Given the description of an element on the screen output the (x, y) to click on. 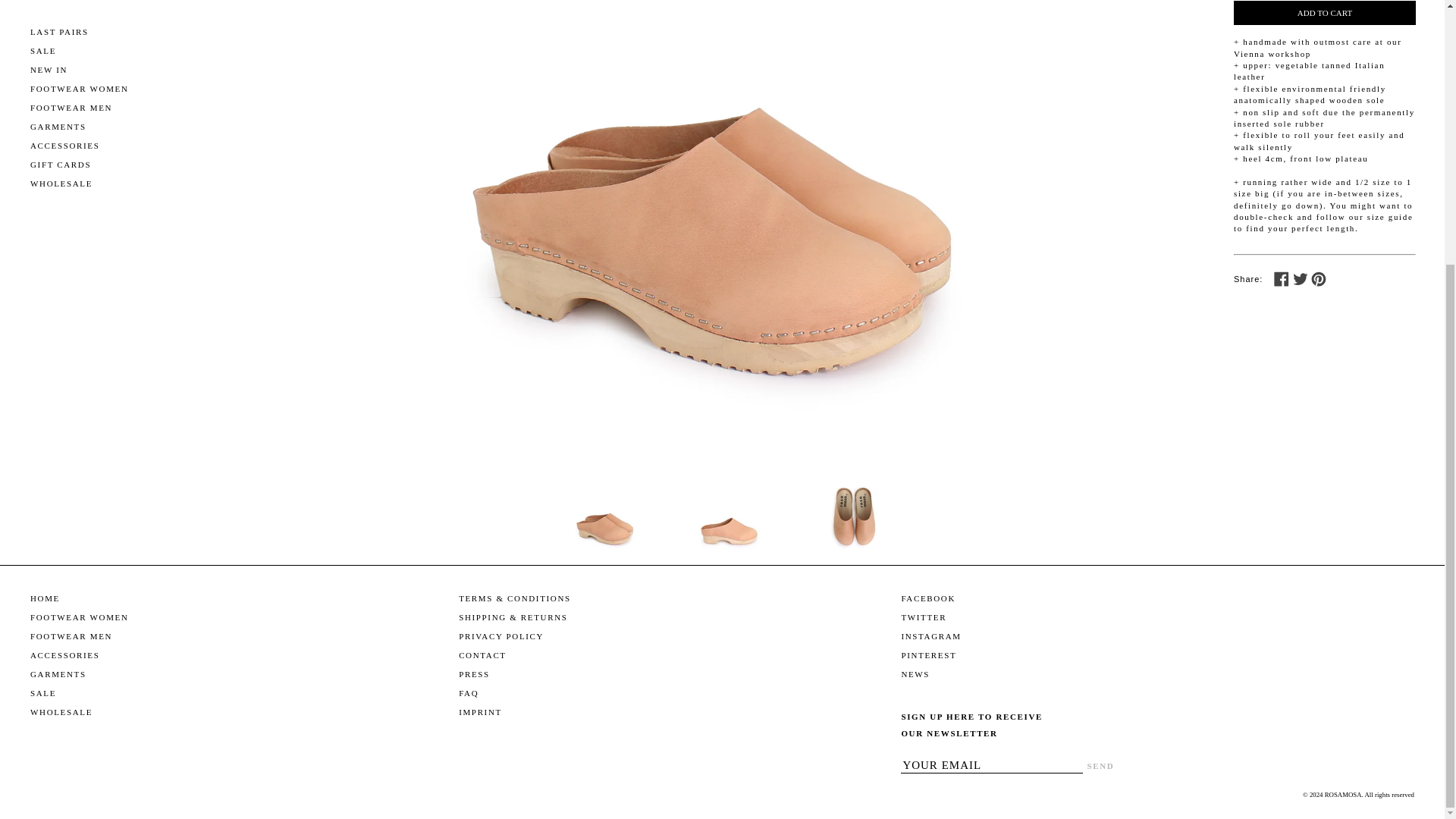
rosa mosa on Instagram (930, 635)
ADD TO CART (1324, 12)
SALE (43, 50)
GIFT CARDS (60, 163)
FOOTWEAR WOMEN (79, 88)
LAST PAIRS (59, 31)
NEW IN (48, 68)
rosa mosa on Facebook (928, 597)
WHOLESALE (61, 182)
GARMENTS (57, 126)
